Given the description of an element on the screen output the (x, y) to click on. 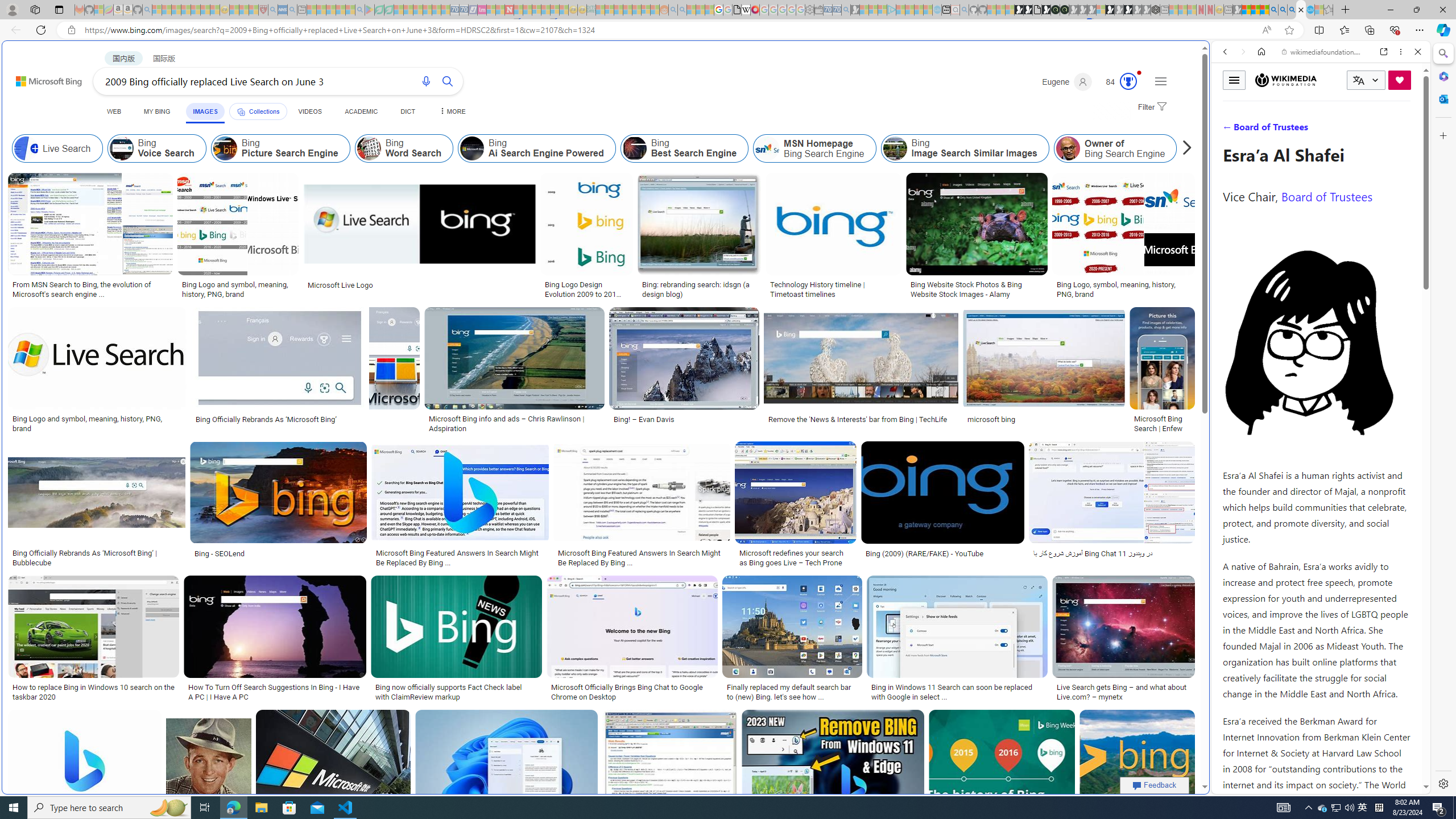
Class: b_pri_nav_svg (240, 112)
Bing Picture Search Engine (280, 148)
MSN - Sleeping (1236, 9)
World - MSN (727, 389)
Technology History timeline | Timetoast timelinesSave (835, 237)
Utah sues federal government - Search - Sleeping (681, 9)
Microsoft Live LogoSave (421, 237)
Bing Word Search (403, 148)
The Weather Channel - MSN - Sleeping (175, 9)
Search or enter web address (922, 108)
